Given the description of an element on the screen output the (x, y) to click on. 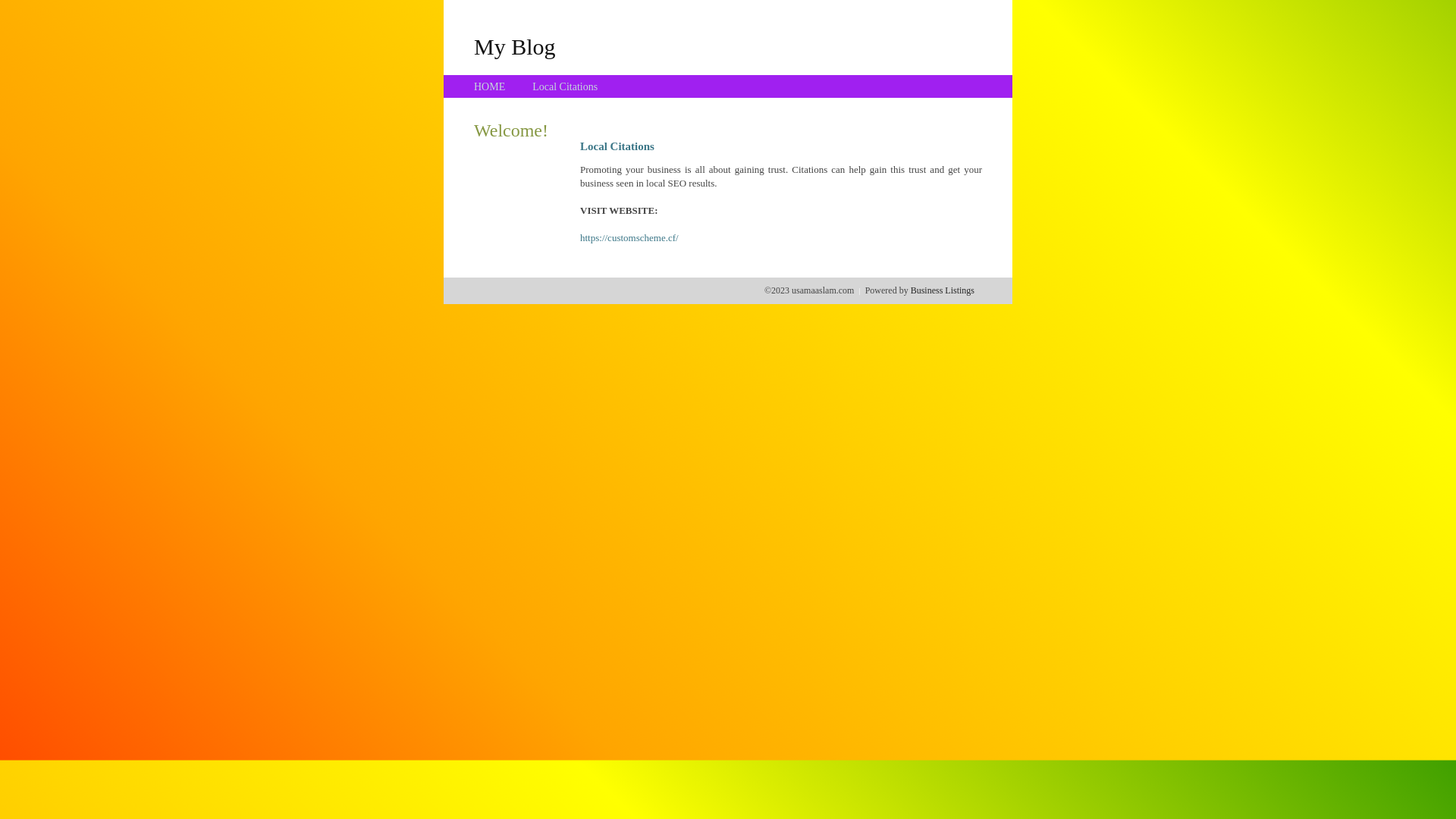
https://customscheme.cf/ Element type: text (629, 237)
HOME Element type: text (489, 86)
Business Listings Element type: text (942, 290)
Local Citations Element type: text (564, 86)
My Blog Element type: text (514, 46)
